Given the description of an element on the screen output the (x, y) to click on. 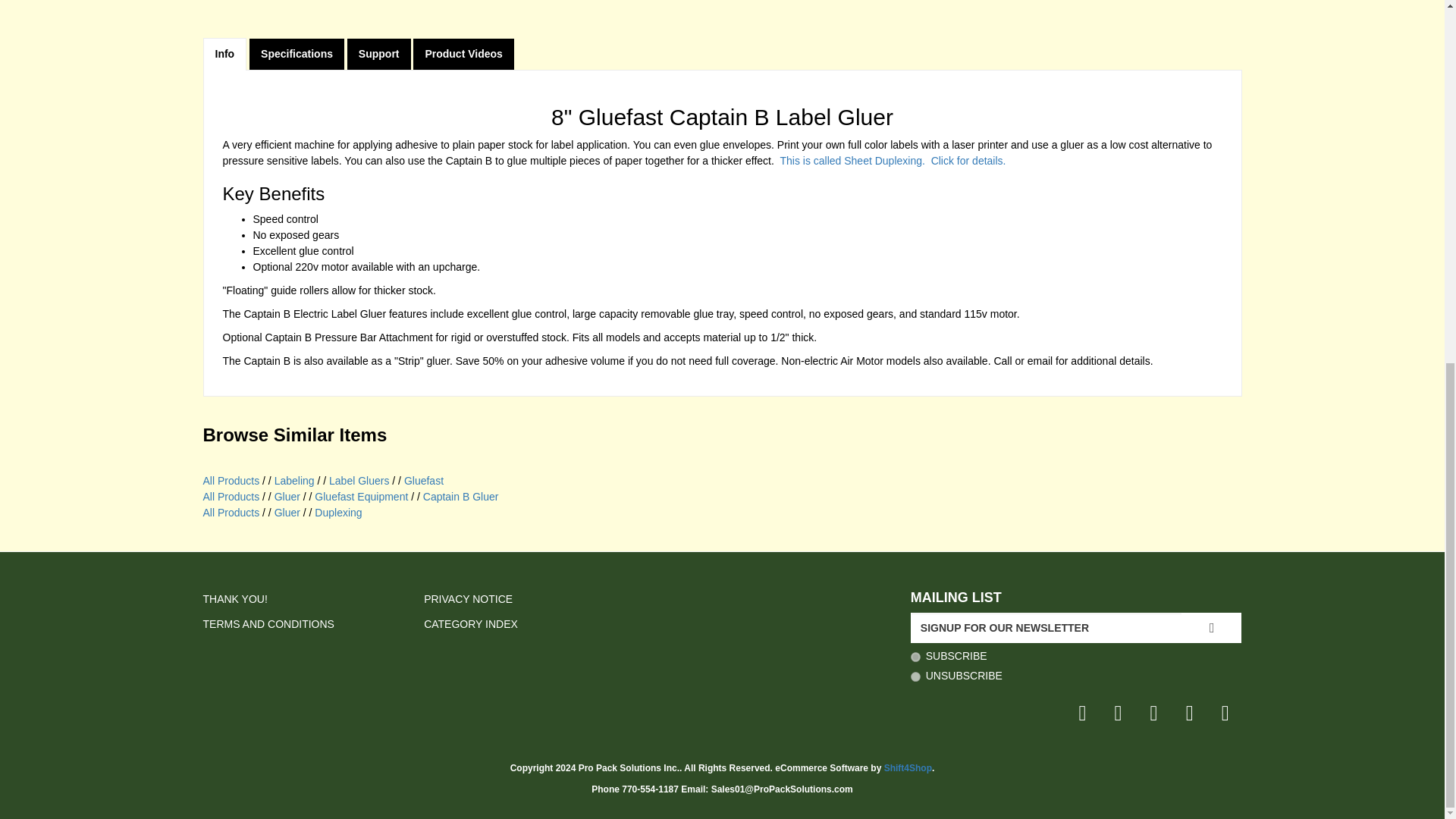
1 (915, 656)
0 (915, 676)
